Given the description of an element on the screen output the (x, y) to click on. 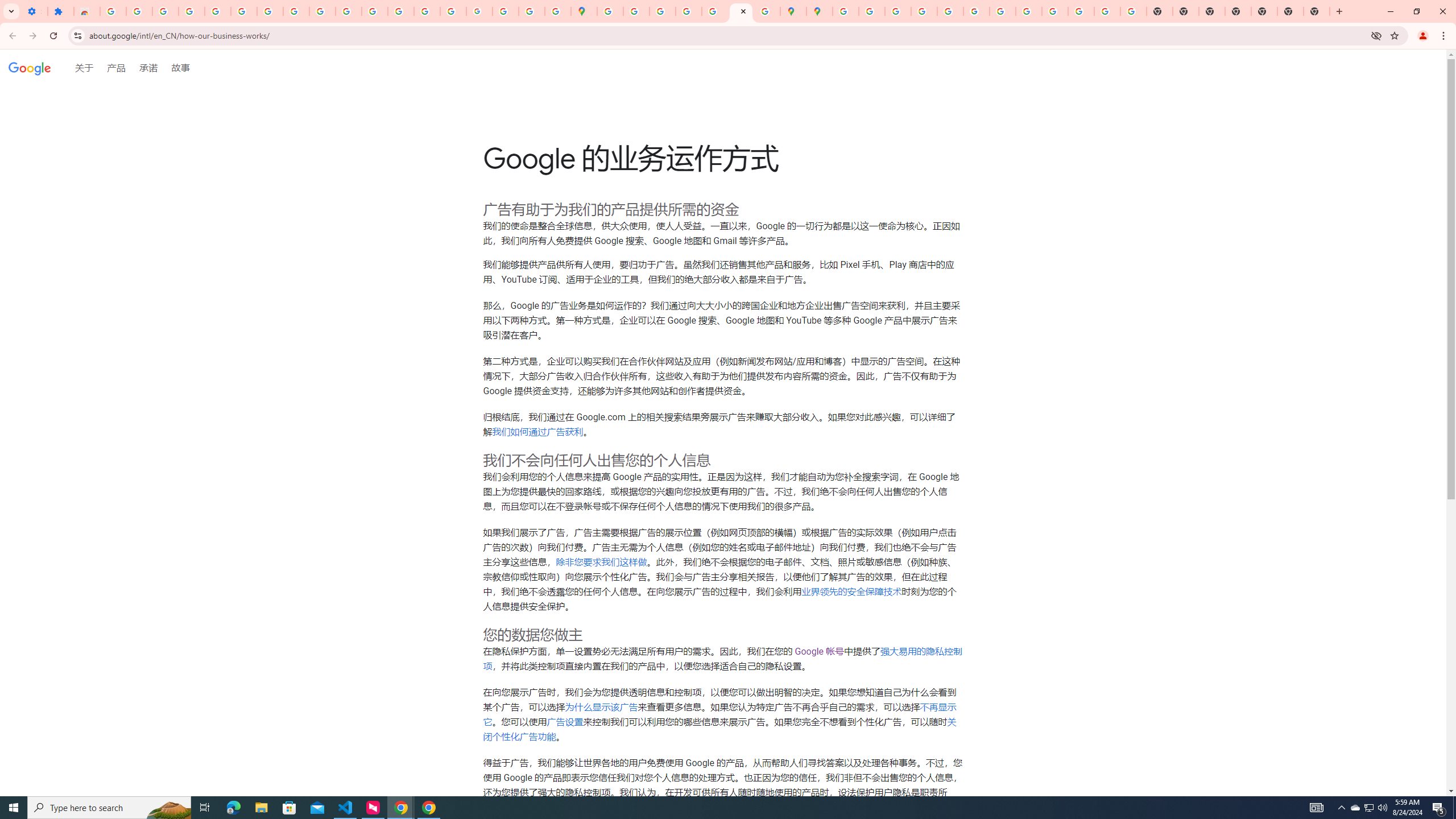
Settings - On startup (34, 11)
Learn how to find your photos - Google Photos Help (191, 11)
Google (29, 68)
https://scholar.google.com/ (374, 11)
New Tab (1316, 11)
Browse Chrome as a guest - Computer - Google Chrome Help (1028, 11)
